Given the description of an element on the screen output the (x, y) to click on. 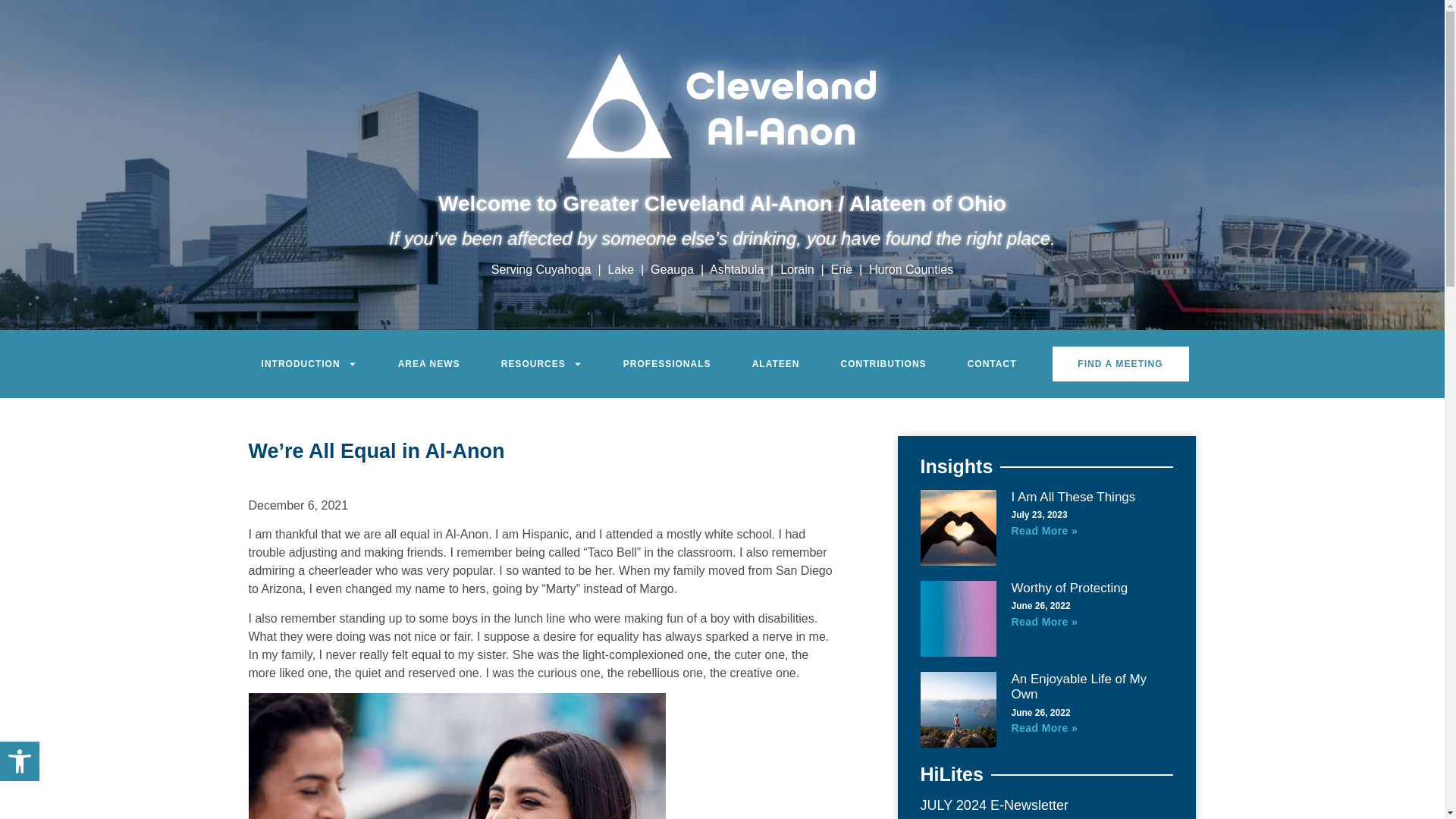
ALATEEN (776, 363)
CONTRIBUTIONS (884, 363)
Accessibility Tools (19, 761)
INTRODUCTION (309, 363)
RESOURCES (541, 363)
PROFESSIONALS (667, 363)
